Given the description of an element on the screen output the (x, y) to click on. 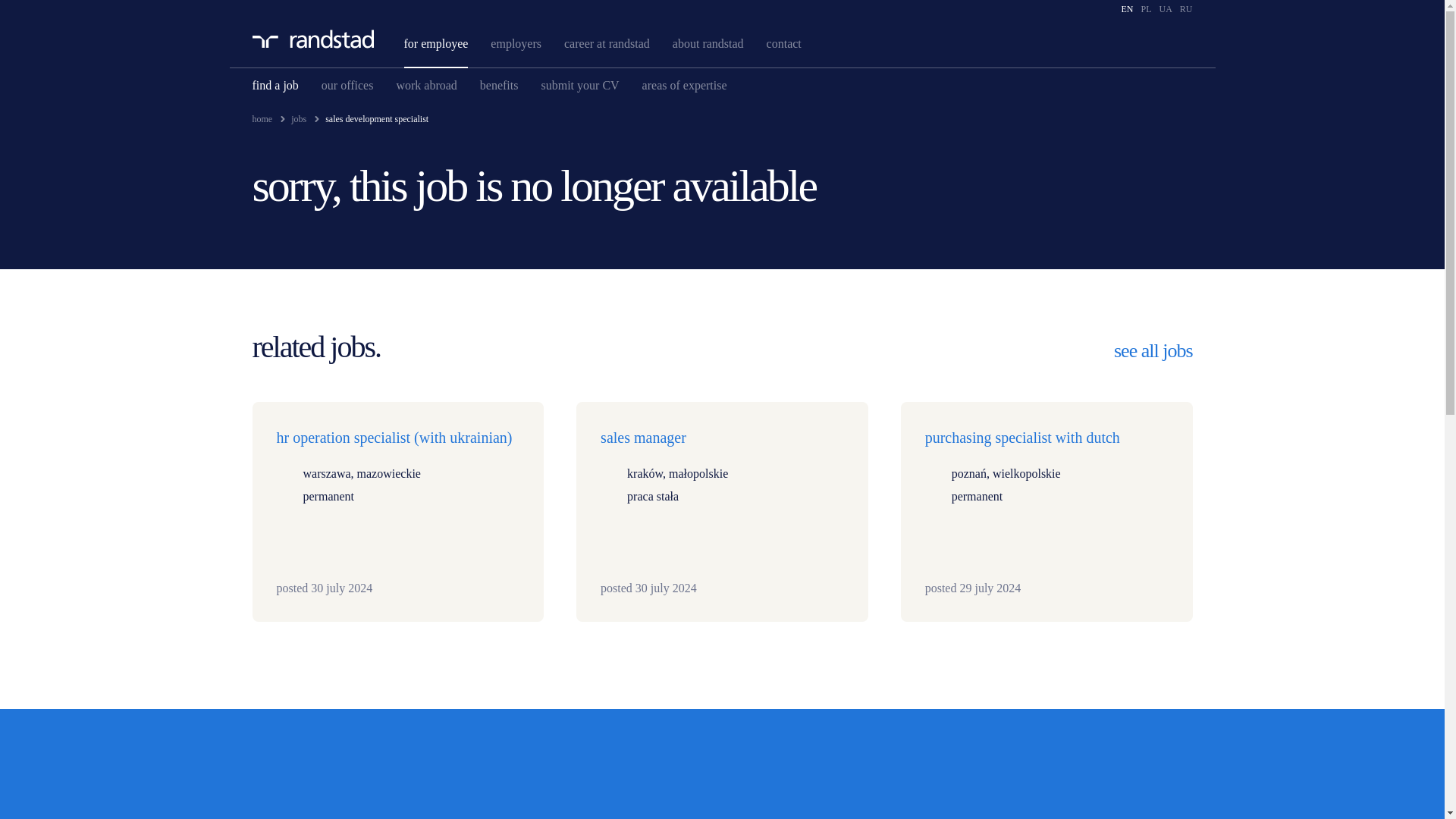
benefits (499, 84)
contact (784, 42)
our offices (347, 84)
submit your CV (579, 84)
work abroad (426, 84)
randstad (311, 38)
employers (515, 42)
areas of expertise (684, 84)
PL (1145, 9)
RU (1185, 9)
randstad (311, 38)
find a job (274, 84)
career at randstad (606, 42)
UA (1165, 9)
about randstad (708, 42)
